Given the description of an element on the screen output the (x, y) to click on. 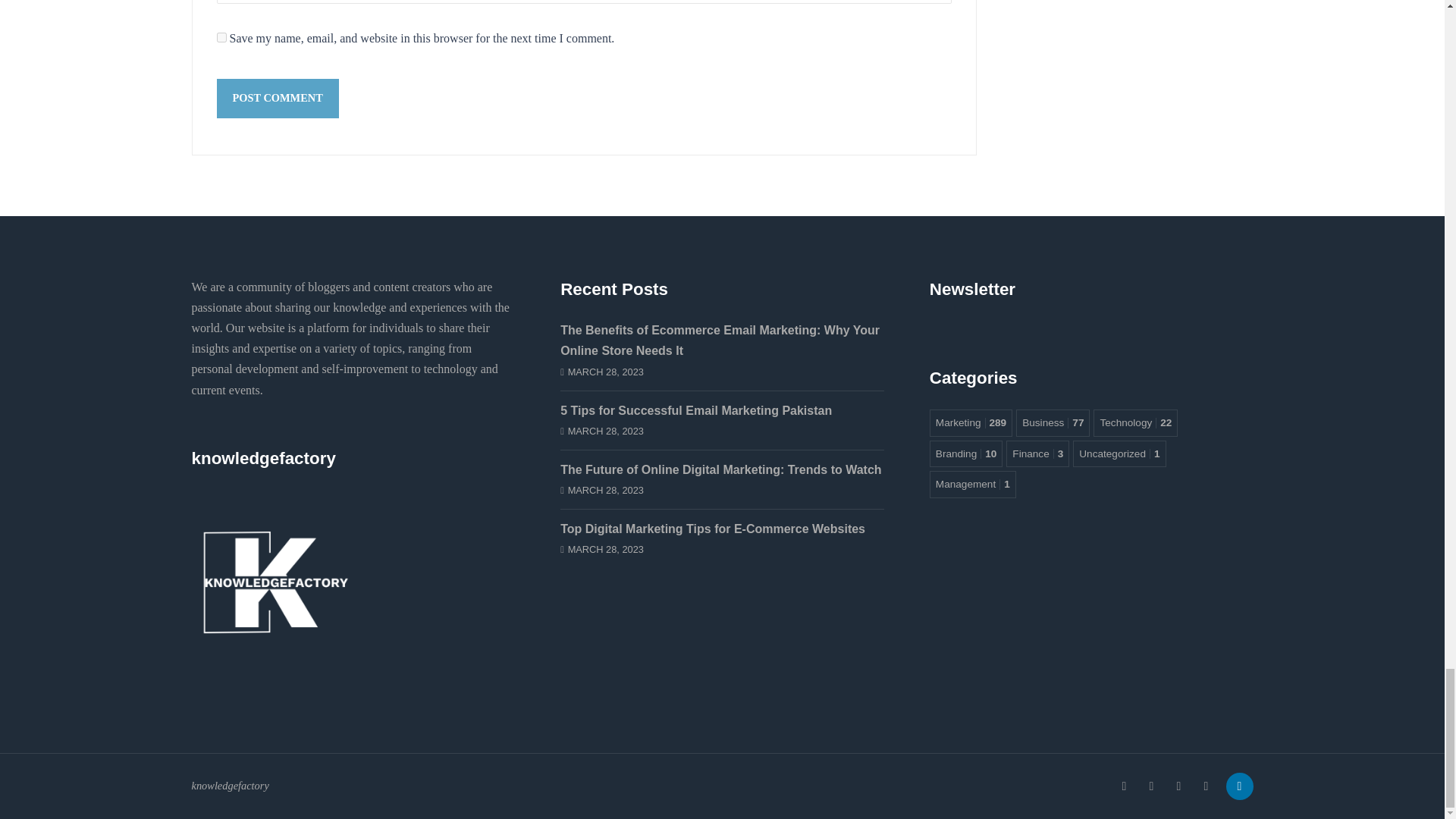
knowledgefactory (274, 572)
Twitter (1178, 786)
instagram (1150, 786)
yes (221, 37)
Pinterest (1206, 786)
Post Comment (277, 97)
Go to Top (1236, 786)
facebook (1123, 786)
